Given the description of an element on the screen output the (x, y) to click on. 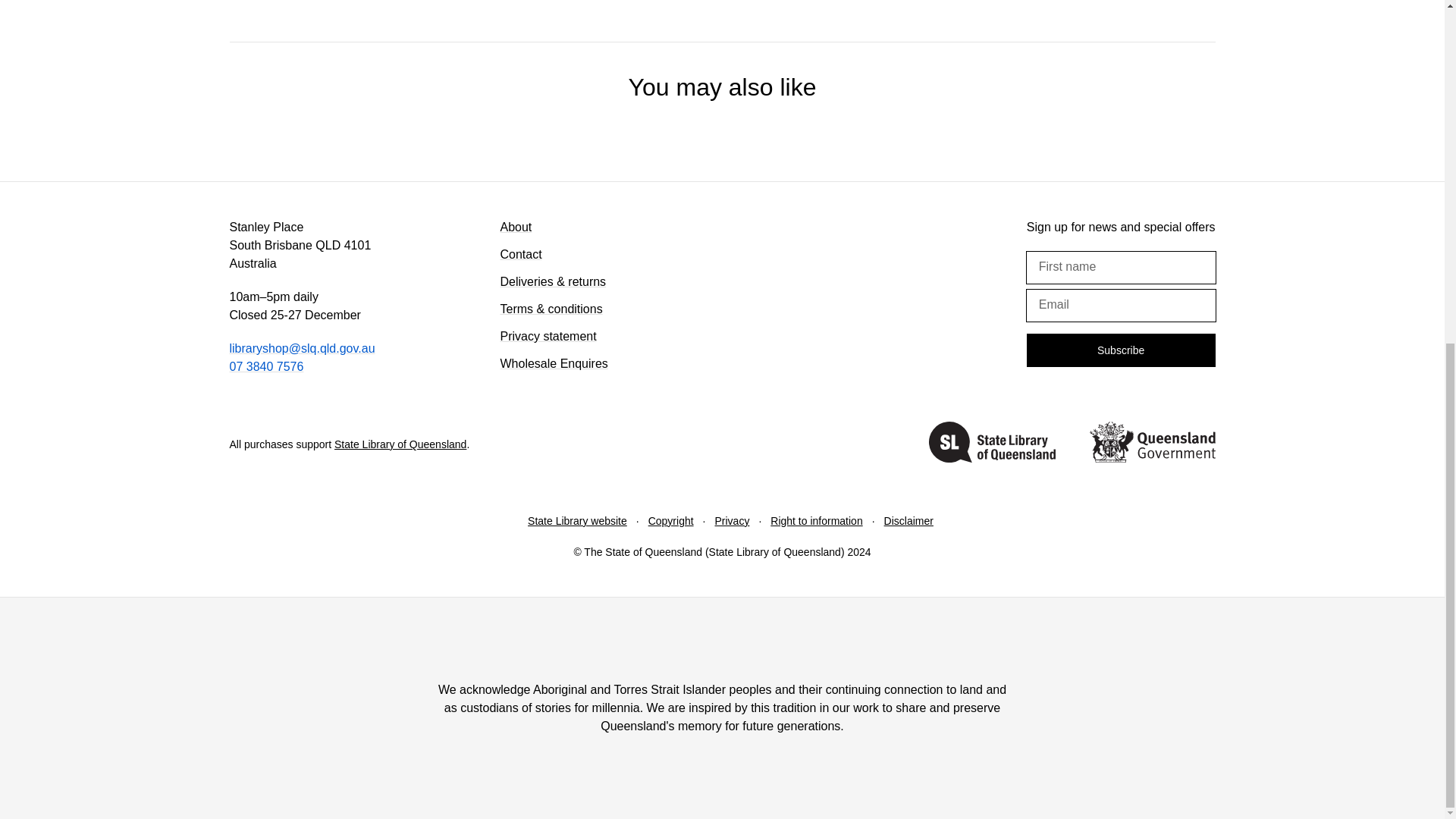
Go to Queensland State Library homepage (992, 444)
Go to Queensland Government homepage (1151, 444)
tel:07 3840 7576 (265, 366)
